Given the description of an element on the screen output the (x, y) to click on. 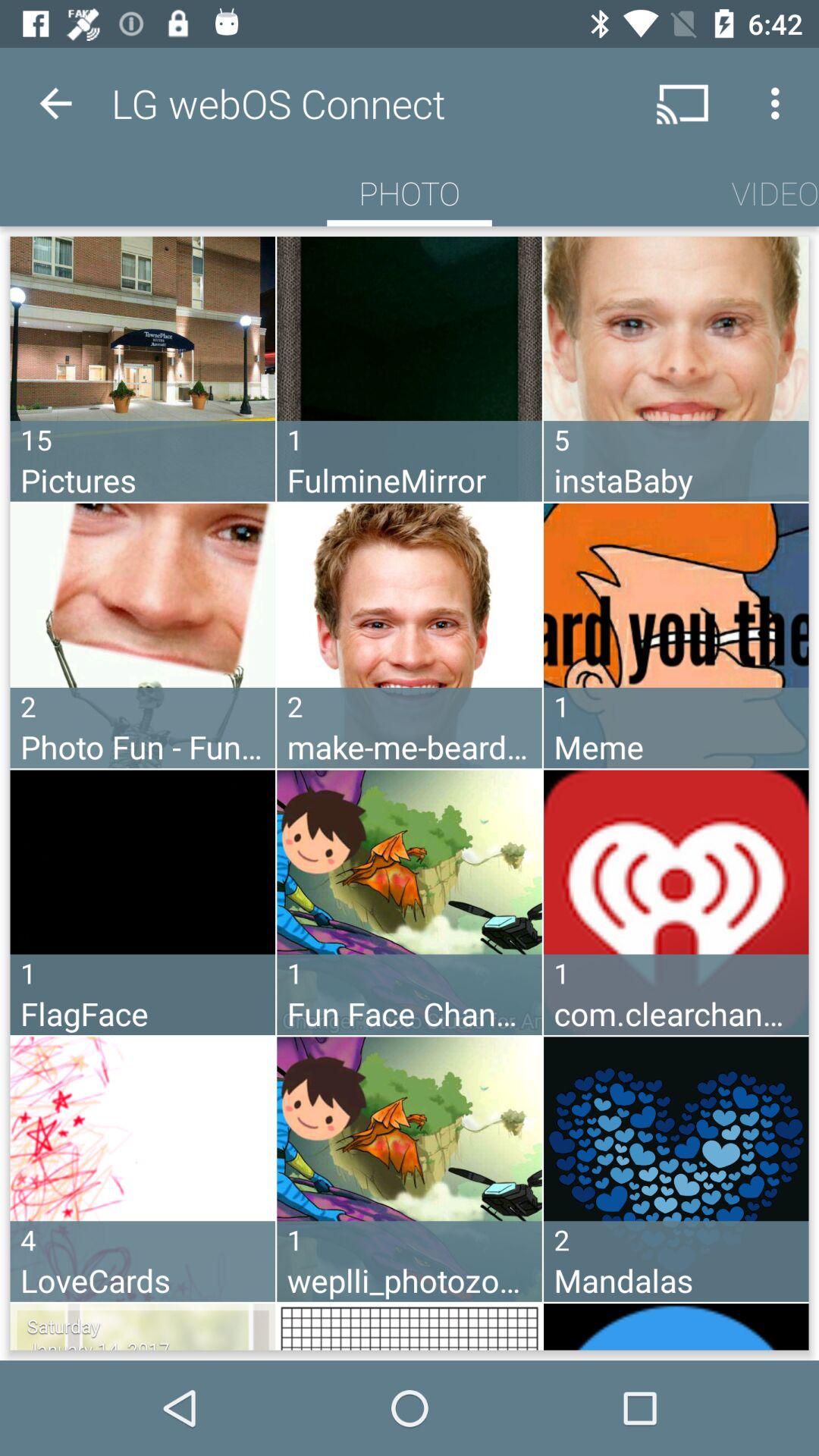
flip until the video (775, 192)
